Given the description of an element on the screen output the (x, y) to click on. 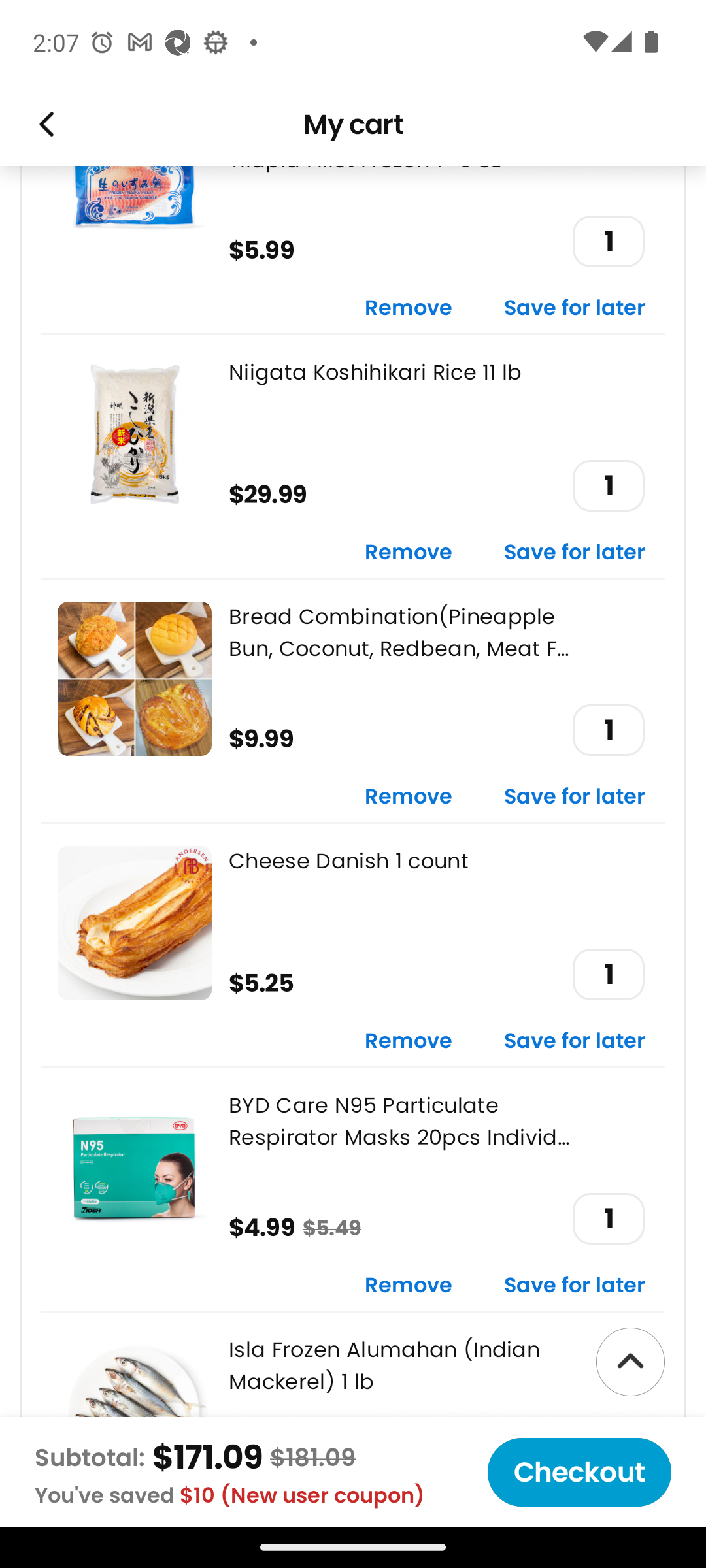
1 (608, 241)
Remove (408, 307)
Save for later (574, 307)
1 (608, 485)
Remove (408, 552)
Save for later (574, 552)
1 (608, 729)
Remove (408, 797)
Save for later (574, 797)
1 (608, 974)
Remove (408, 1041)
Save for later (574, 1041)
1 (608, 1218)
Remove (408, 1286)
Save for later (574, 1286)
Checkout (579, 1471)
